Given the description of an element on the screen output the (x, y) to click on. 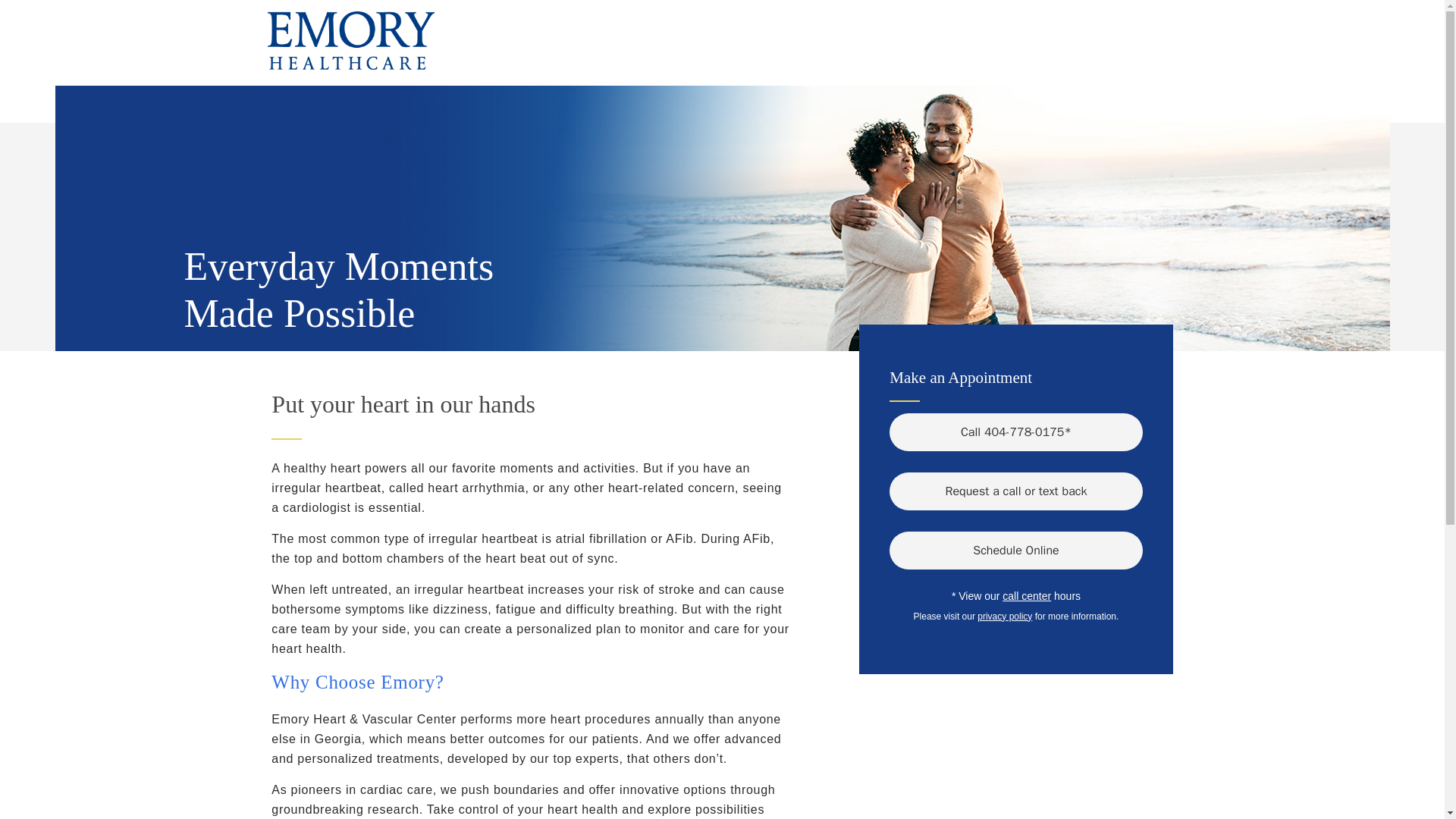
Request a call or text back (1015, 490)
Schedule Online (1015, 549)
privacy policy (1004, 614)
